Given the description of an element on the screen output the (x, y) to click on. 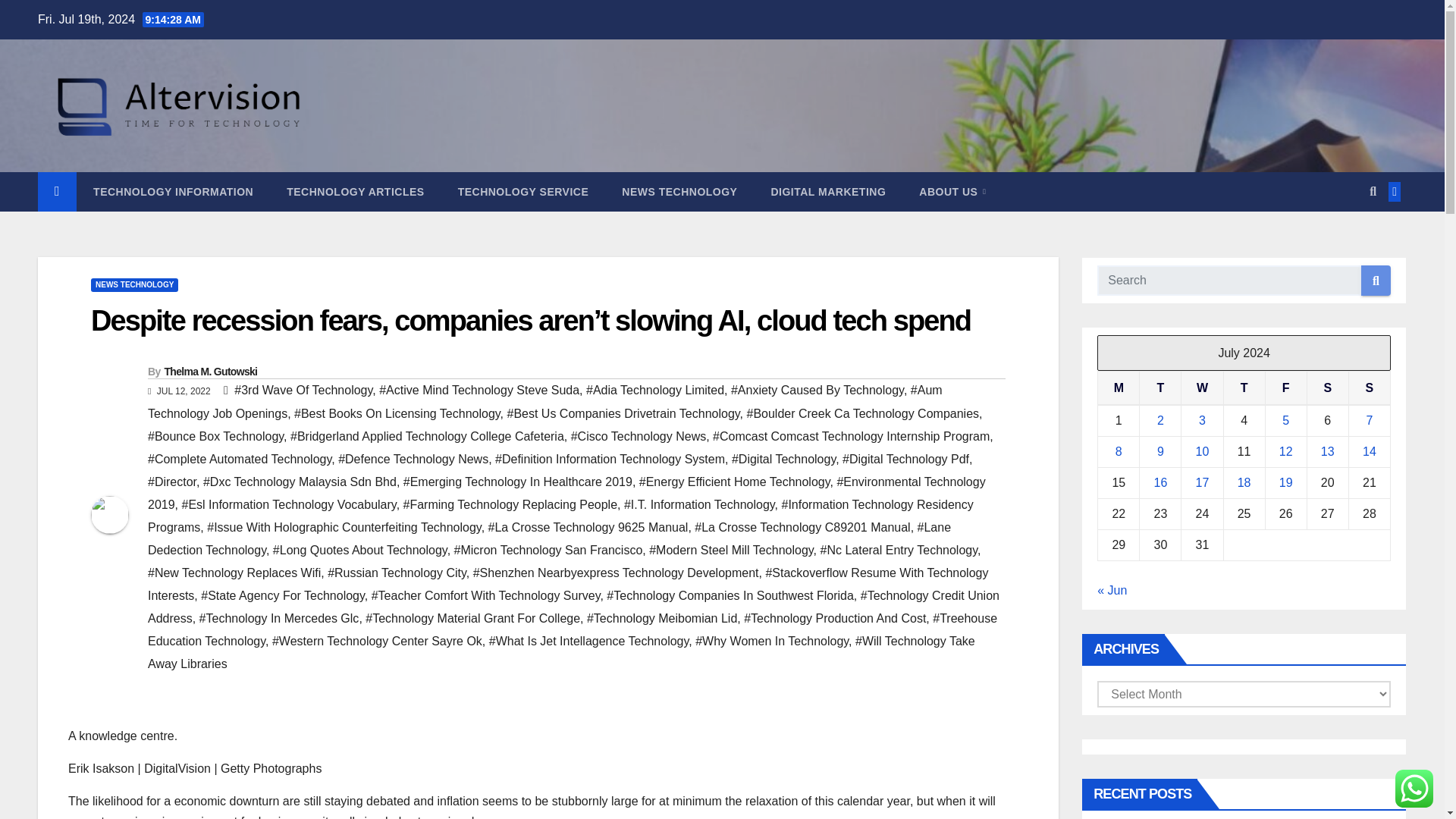
TECHNOLOGY SERVICE (523, 191)
ABOUT US (952, 191)
Technology Articles (355, 191)
Digital Marketing (828, 191)
Technology Information (173, 191)
About Us (952, 191)
NEWS TECHNOLOGY (679, 191)
TECHNOLOGY ARTICLES (355, 191)
Monday (1118, 387)
TECHNOLOGY INFORMATION (173, 191)
NEWS TECHNOLOGY (133, 284)
Thelma M. Gutowski (210, 371)
DIGITAL MARKETING (828, 191)
News Technology (679, 191)
Technology Service (523, 191)
